Given the description of an element on the screen output the (x, y) to click on. 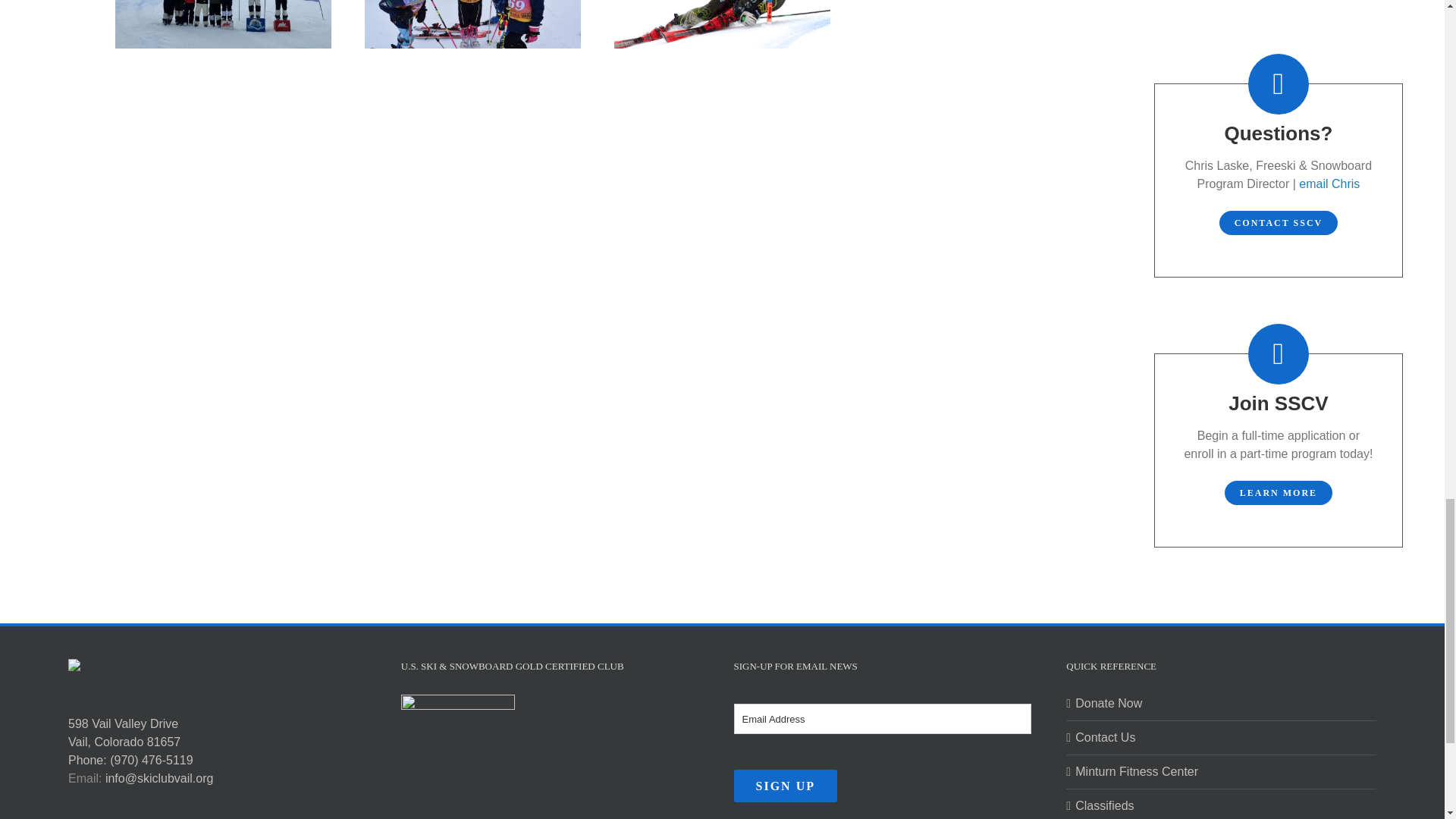
Sign Up (785, 785)
